Given the description of an element on the screen output the (x, y) to click on. 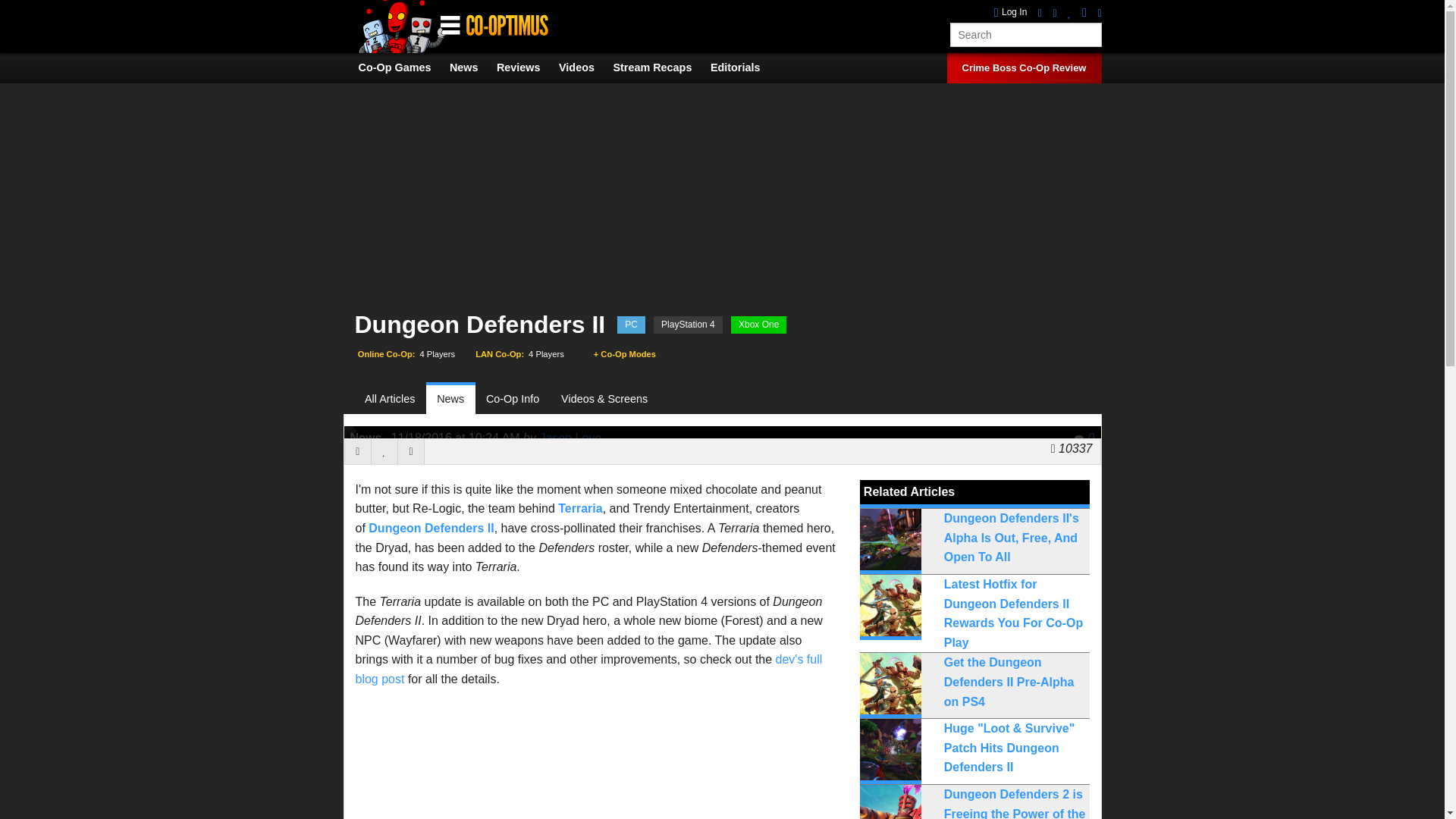
PC (631, 324)
Editorials (743, 67)
Weekly Video Streams and VODs from Co-Optimus (659, 67)
Crime Boss Co-Op Review (1023, 67)
PlayStation 4 (687, 324)
Stream Recaps (659, 67)
Videos (584, 67)
Co-Op Info (513, 398)
All Articles (395, 398)
Co-Op Games (401, 67)
Xbox One (758, 324)
News (451, 398)
login (1010, 11)
News (471, 67)
Reviews (526, 67)
